Given the description of an element on the screen output the (x, y) to click on. 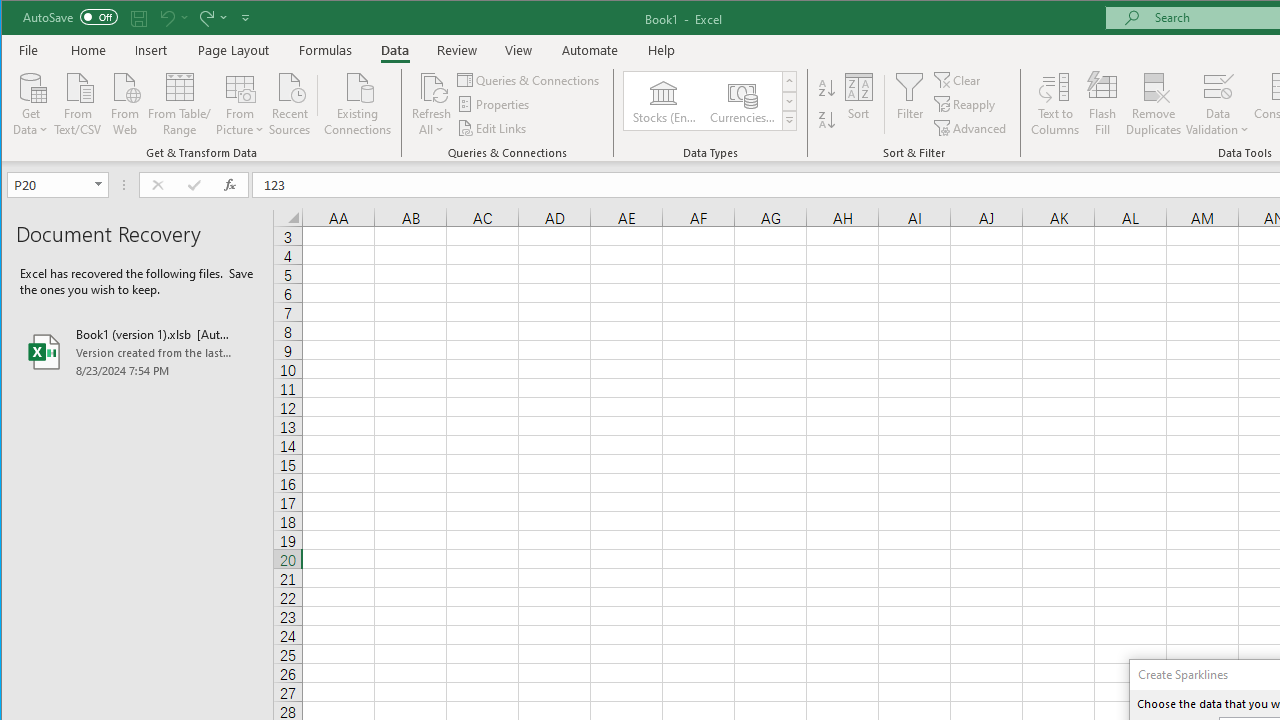
Existing Connections (358, 101)
From Table/Range (179, 101)
Recent Sources (290, 101)
AutomationID: ConvertToLinkedEntity (711, 101)
From Picture (240, 101)
